Given the description of an element on the screen output the (x, y) to click on. 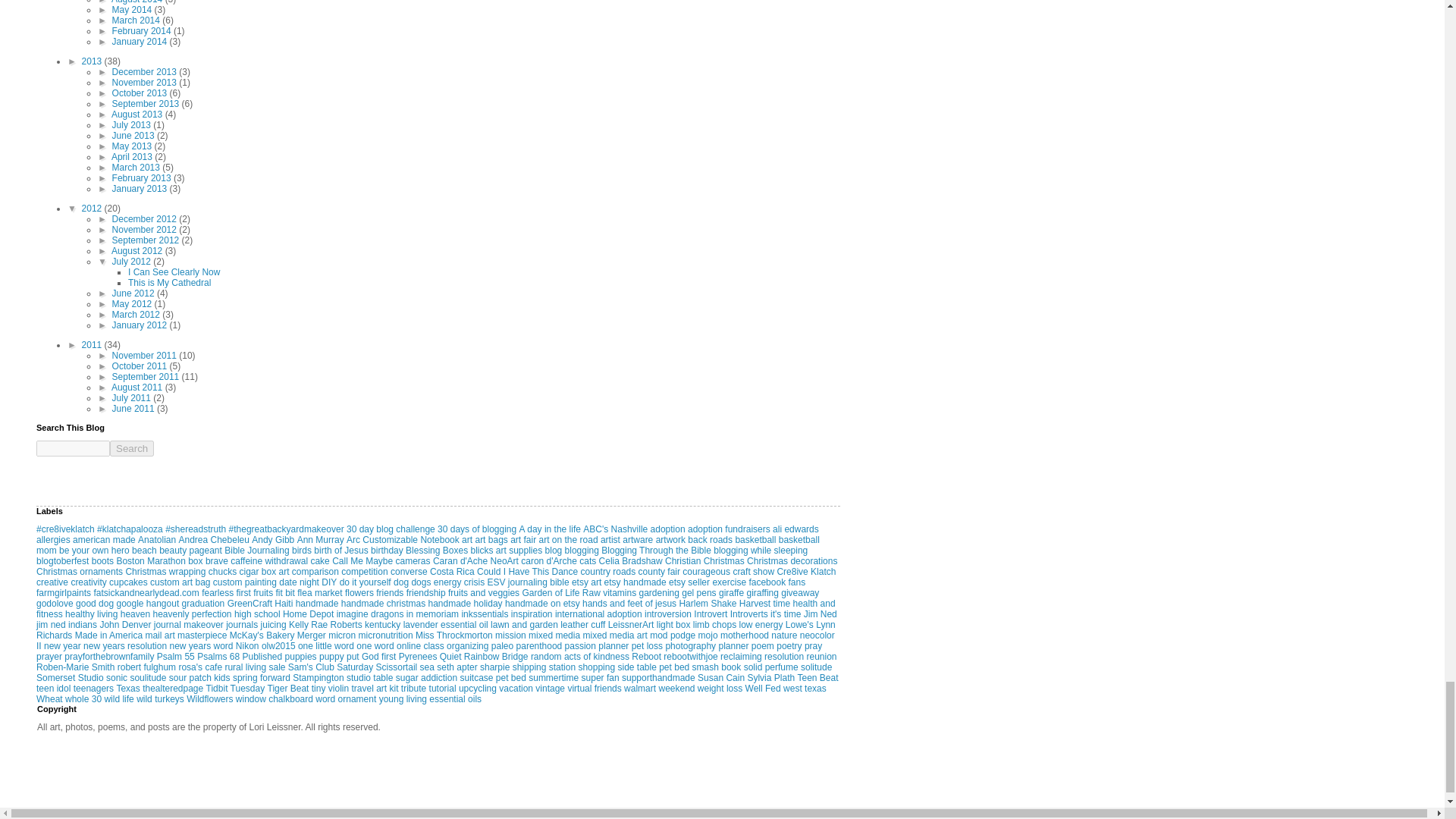
search (73, 448)
search (132, 448)
Search (132, 448)
Search (132, 448)
